Given the description of an element on the screen output the (x, y) to click on. 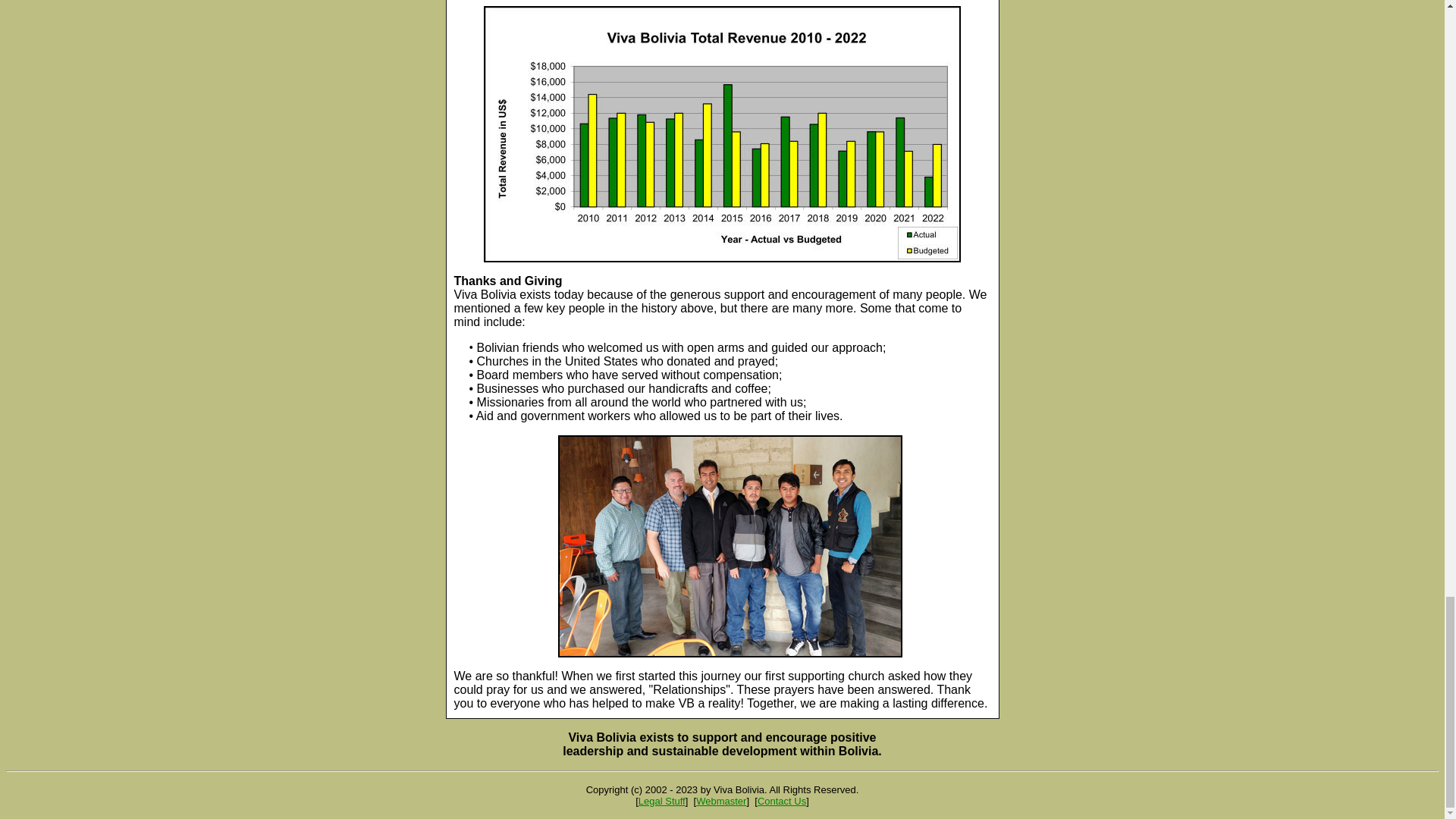
Contact Us (781, 800)
Legal Stuff (662, 800)
Webmaster (720, 800)
